Given the description of an element on the screen output the (x, y) to click on. 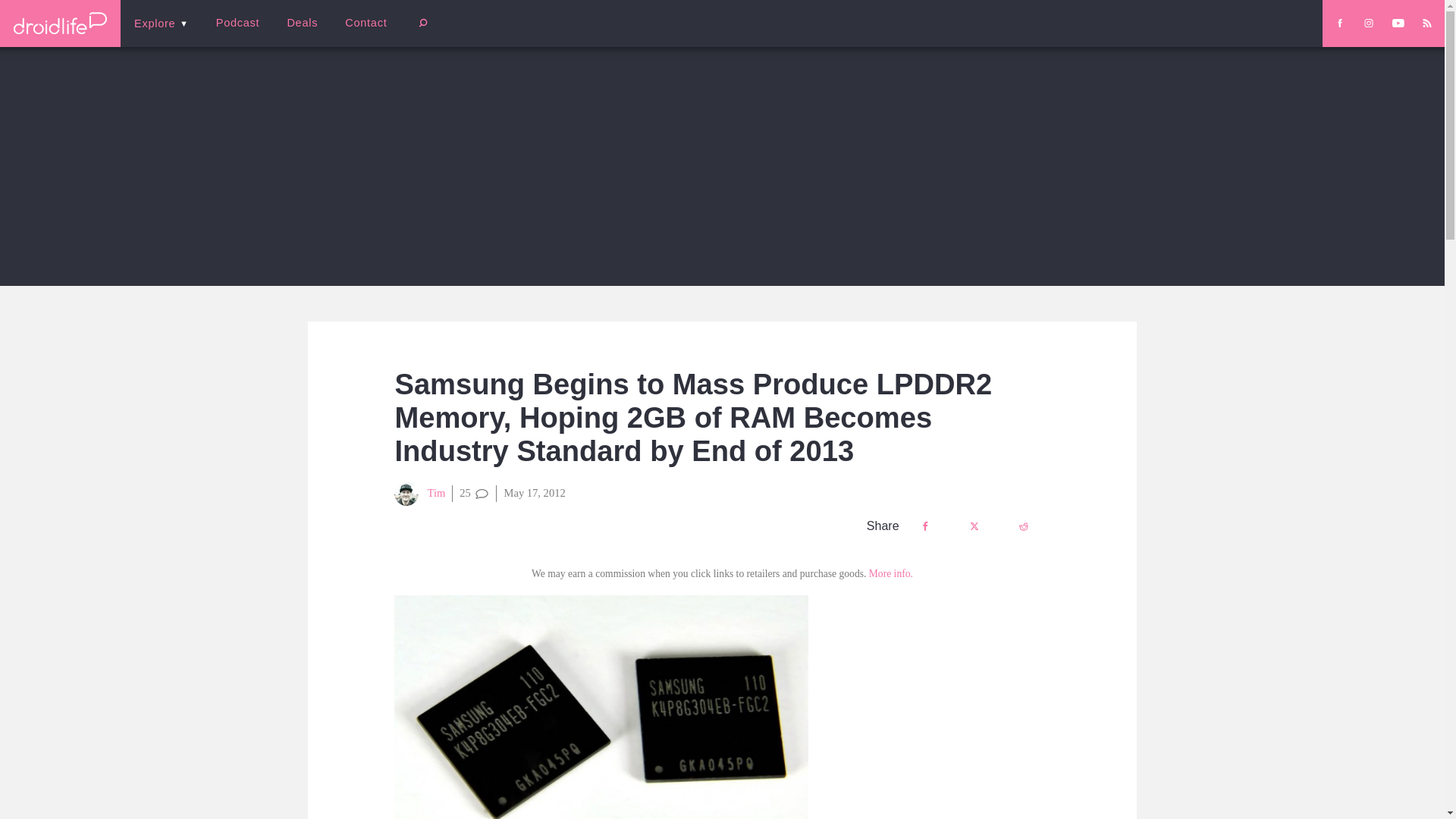
Explore (161, 23)
Contact (365, 23)
Droid Life on Facebook (1339, 23)
Deals (302, 23)
Tim (419, 493)
Droid Life on Instagram (1368, 23)
Podcast (237, 23)
Droid Life on YouTube (1398, 23)
LPDDR2 memory (601, 707)
Beginners' Guide (360, 33)
Droid Life RSS (1426, 23)
